Given the description of an element on the screen output the (x, y) to click on. 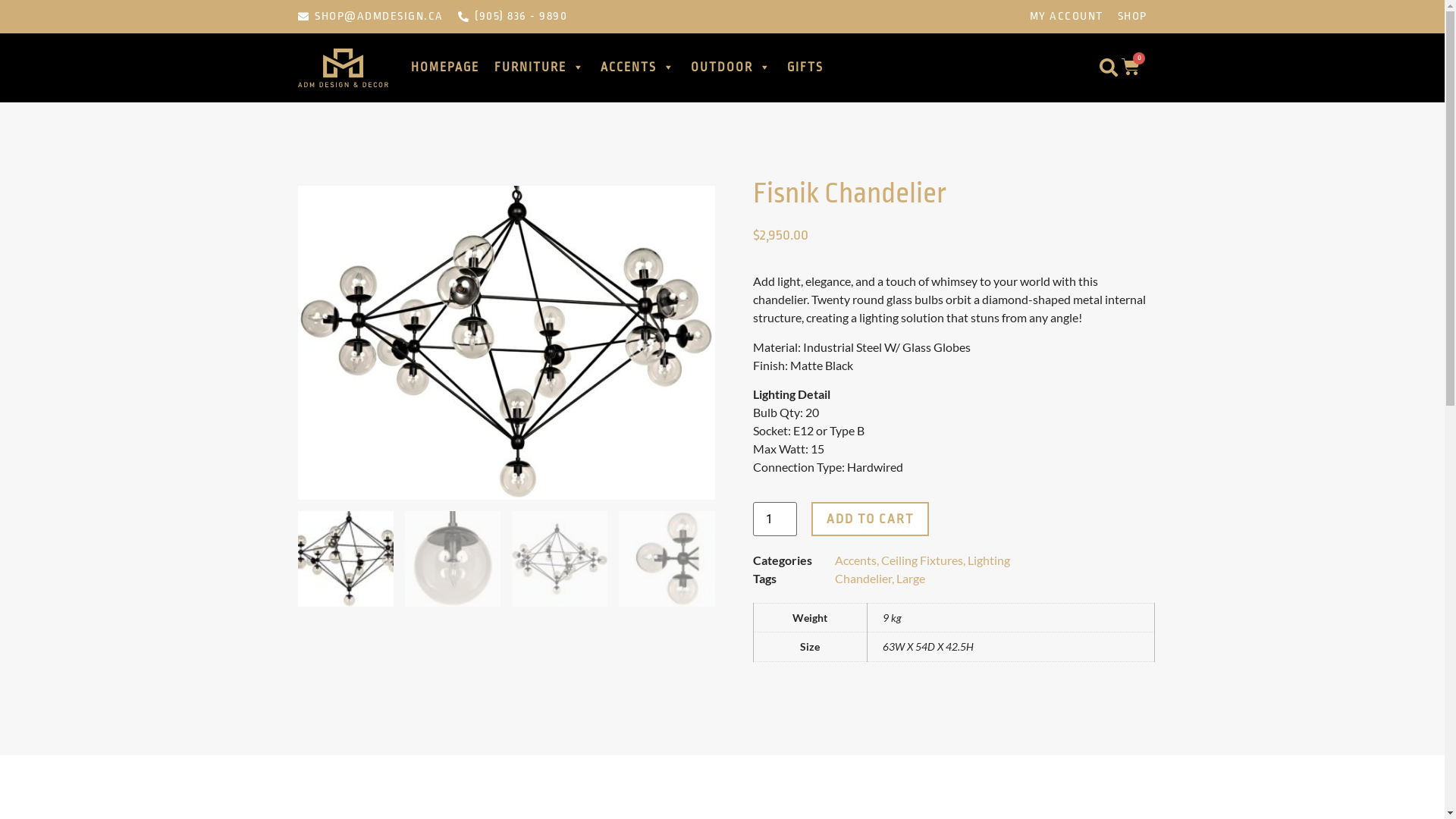
HOMEPAGE Element type: text (444, 67)
SHOP@ADMDESIGN.CA Element type: text (369, 16)
GIFTS Element type: text (805, 67)
Ceiling Fixtures Element type: text (922, 559)
Chandelier Element type: text (862, 578)
Accents Element type: text (854, 559)
0 Element type: text (1130, 66)
(905) 836 - 9890 Element type: text (512, 16)
MY ACCOUNT Element type: text (1066, 16)
Lighting Element type: text (988, 559)
OUTDOOR Element type: text (731, 67)
ACCENTS Element type: text (638, 67)
ADD TO CART Element type: text (869, 518)
Large Element type: text (910, 578)
FURNITURE Element type: text (539, 67)
SHOP Element type: text (1132, 16)
lamp478mtb-l_lg Element type: hover (505, 342)
